Given the description of an element on the screen output the (x, y) to click on. 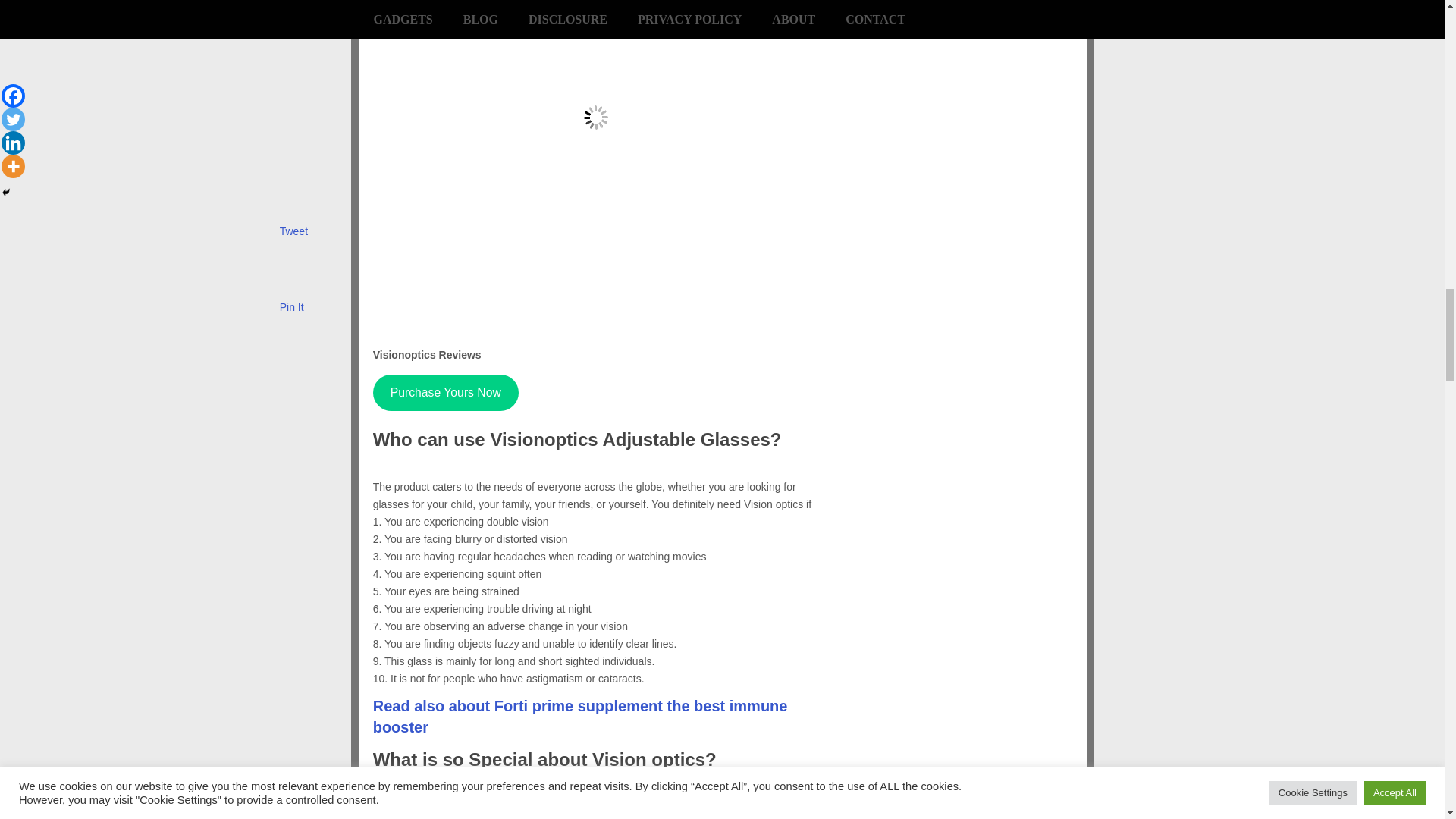
Purchase Yours Now (445, 392)
